Given the description of an element on the screen output the (x, y) to click on. 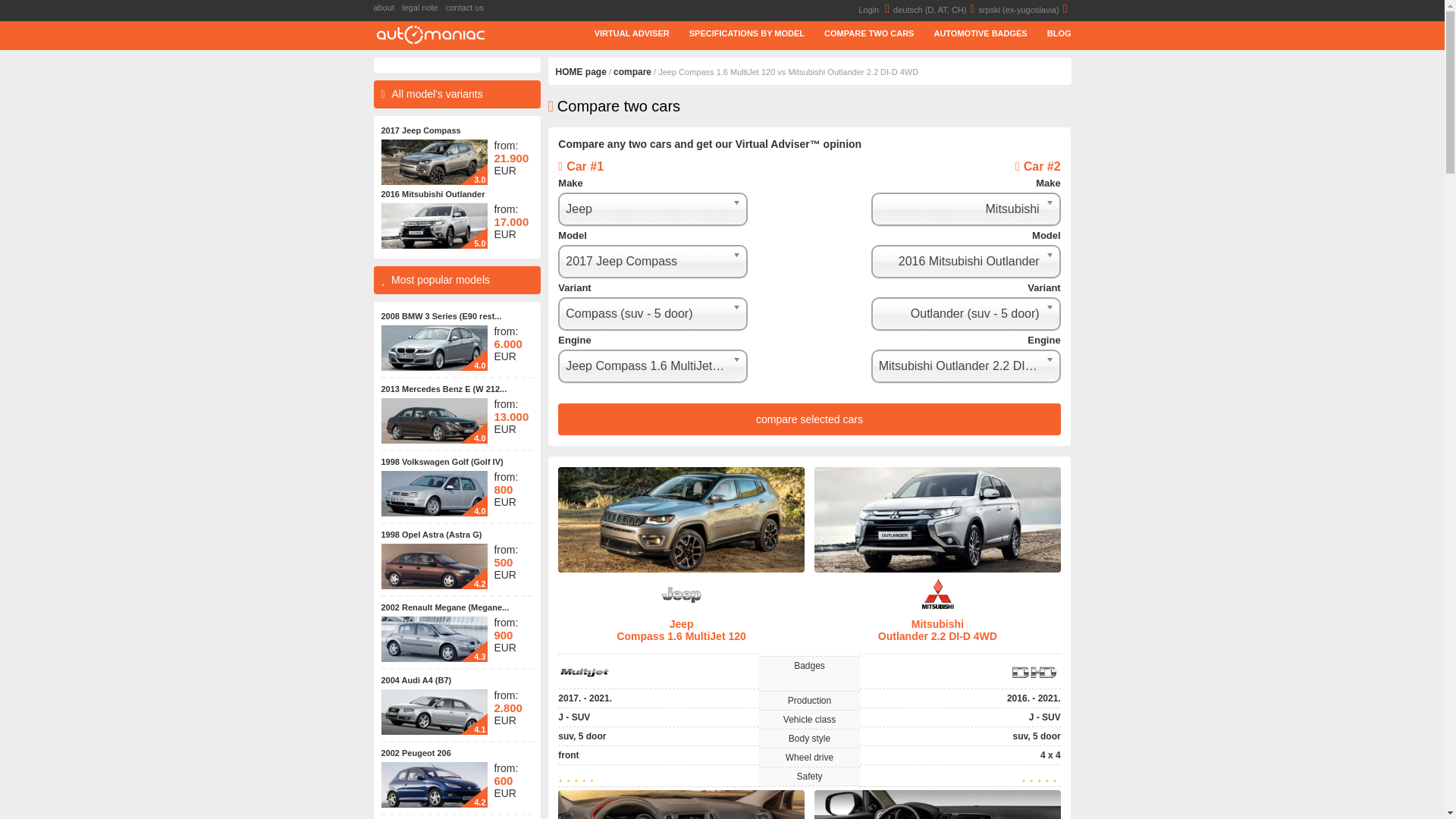
legal note (423, 7)
VIRTUAL ADVISER (622, 32)
contact us (468, 7)
2017 Jeep Compass  (433, 181)
2002 Peugeot 206 (414, 752)
about (386, 7)
2016 Mitsubishi Outlander  (432, 194)
legal note (423, 7)
COMPARE TWO CARS (859, 32)
BLOG (1049, 32)
SPECIFICATIONS BY MODEL (737, 32)
2017 Jeep Compass (420, 130)
BMW 3 Series (433, 348)
2016 Mitsubishi Outlander (432, 194)
Login (876, 9)
